Given the description of an element on the screen output the (x, y) to click on. 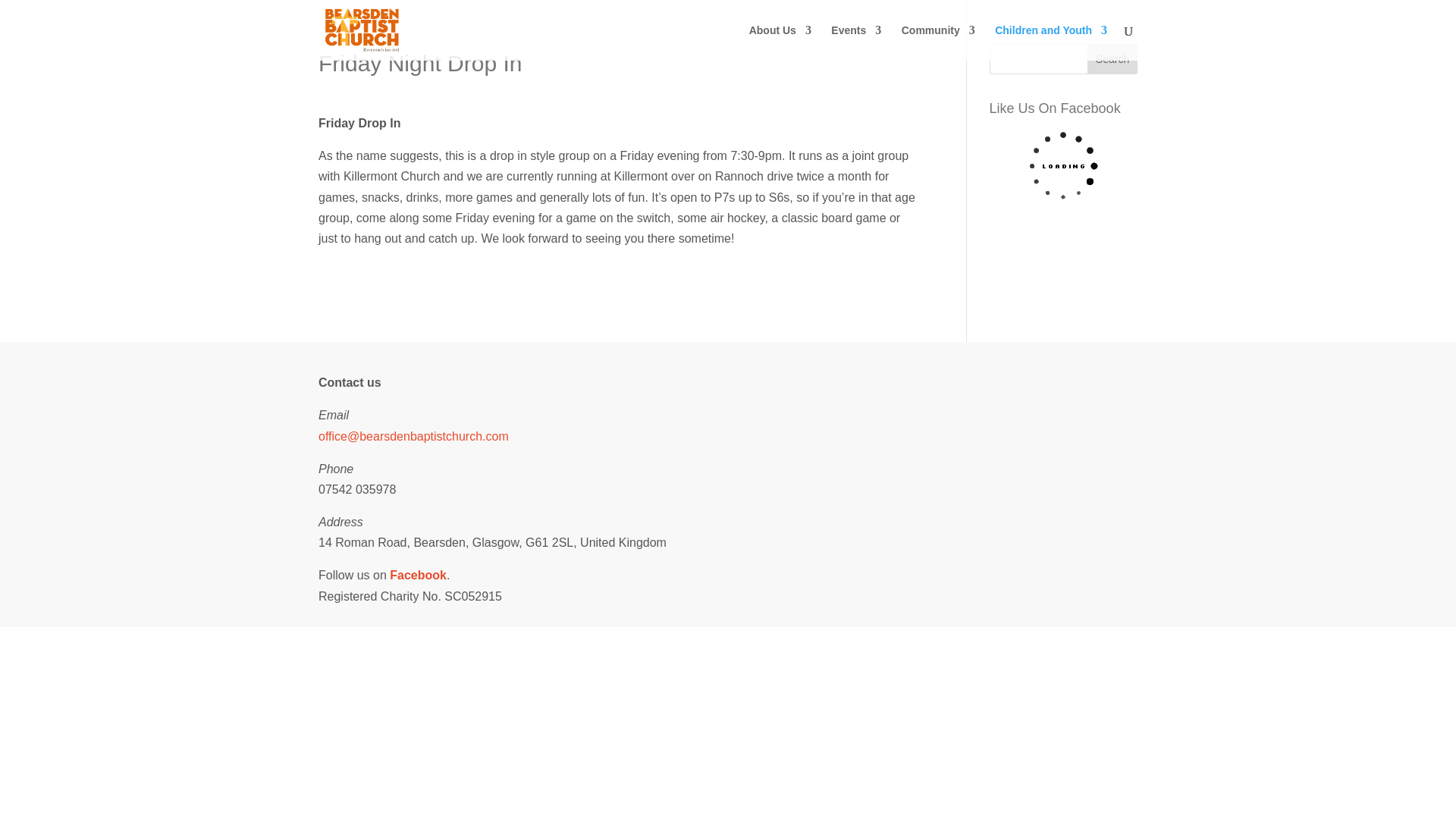
Children and Youth (1050, 42)
Community (938, 42)
Search (1112, 59)
Facebook (418, 574)
Events (855, 42)
About Us (779, 42)
Search (1112, 59)
